Given the description of an element on the screen output the (x, y) to click on. 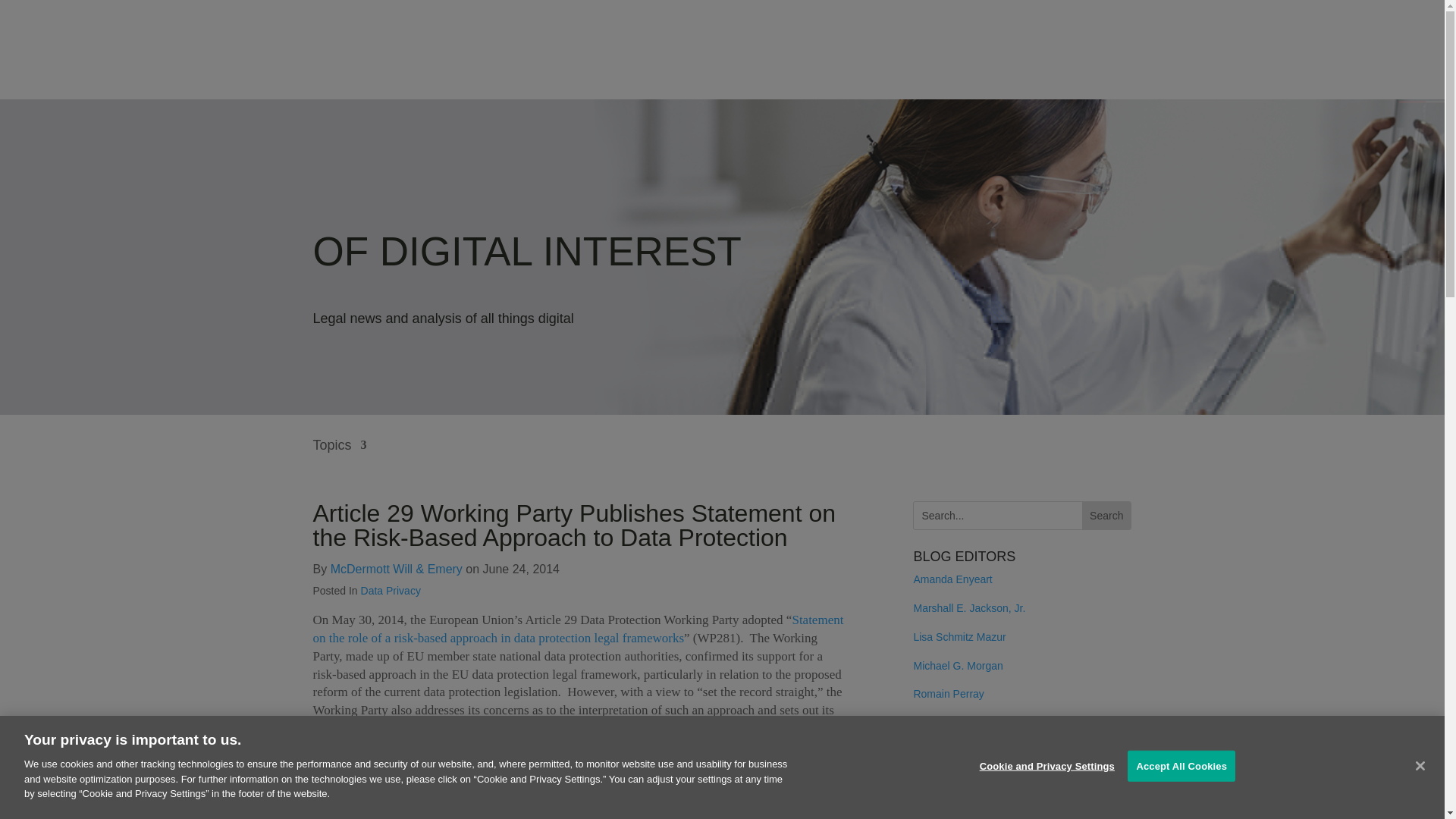
Follow on LinkedIn (955, 784)
Search (1106, 515)
Topics (339, 455)
Follow on X (985, 784)
Follow on Youtube (1015, 784)
Follow on RSS (924, 784)
Search (1106, 515)
Data Privacy (390, 590)
